Given the description of an element on the screen output the (x, y) to click on. 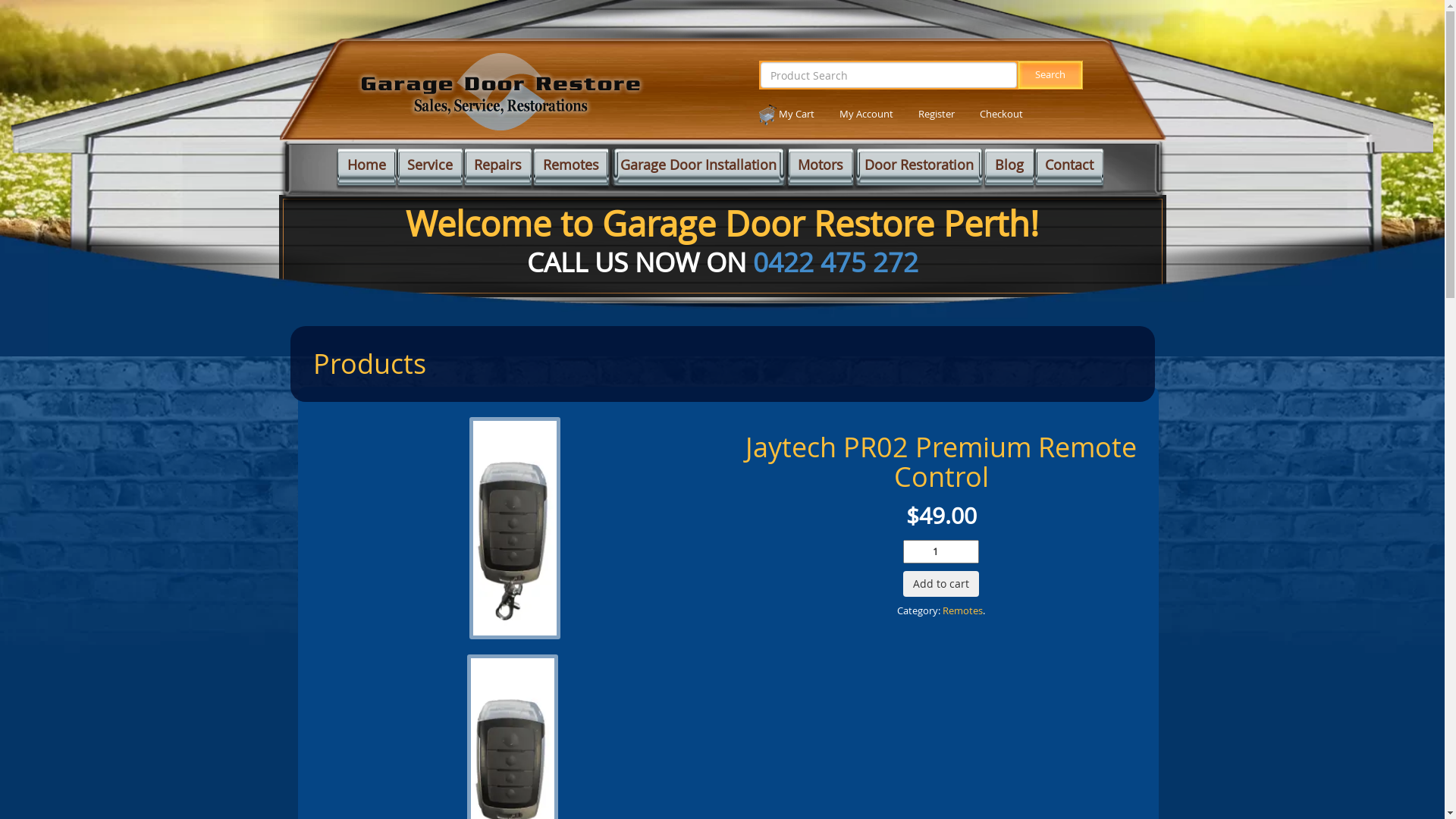
Qty Element type: hover (941, 551)
Checkout Element type: text (1000, 113)
0422 475 272 Element type: text (834, 261)
Contact Element type: text (1068, 168)
Add to cart Element type: text (941, 583)
Home Element type: text (366, 168)
Remotes Element type: text (570, 168)
Search Element type: text (1050, 74)
Door Restoration Element type: text (919, 168)
Blog Element type: text (1009, 168)
Register Element type: text (936, 113)
Products Element type: text (368, 363)
Remotes Element type: text (962, 610)
PR02 Element type: hover (514, 526)
My Cart Element type: text (786, 113)
PR02 Element type: hover (514, 528)
My Account Element type: text (866, 113)
Repairs Element type: text (497, 168)
Motors Element type: text (820, 168)
Service Element type: text (429, 168)
Garage Door Installation Element type: text (697, 168)
